Given the description of an element on the screen output the (x, y) to click on. 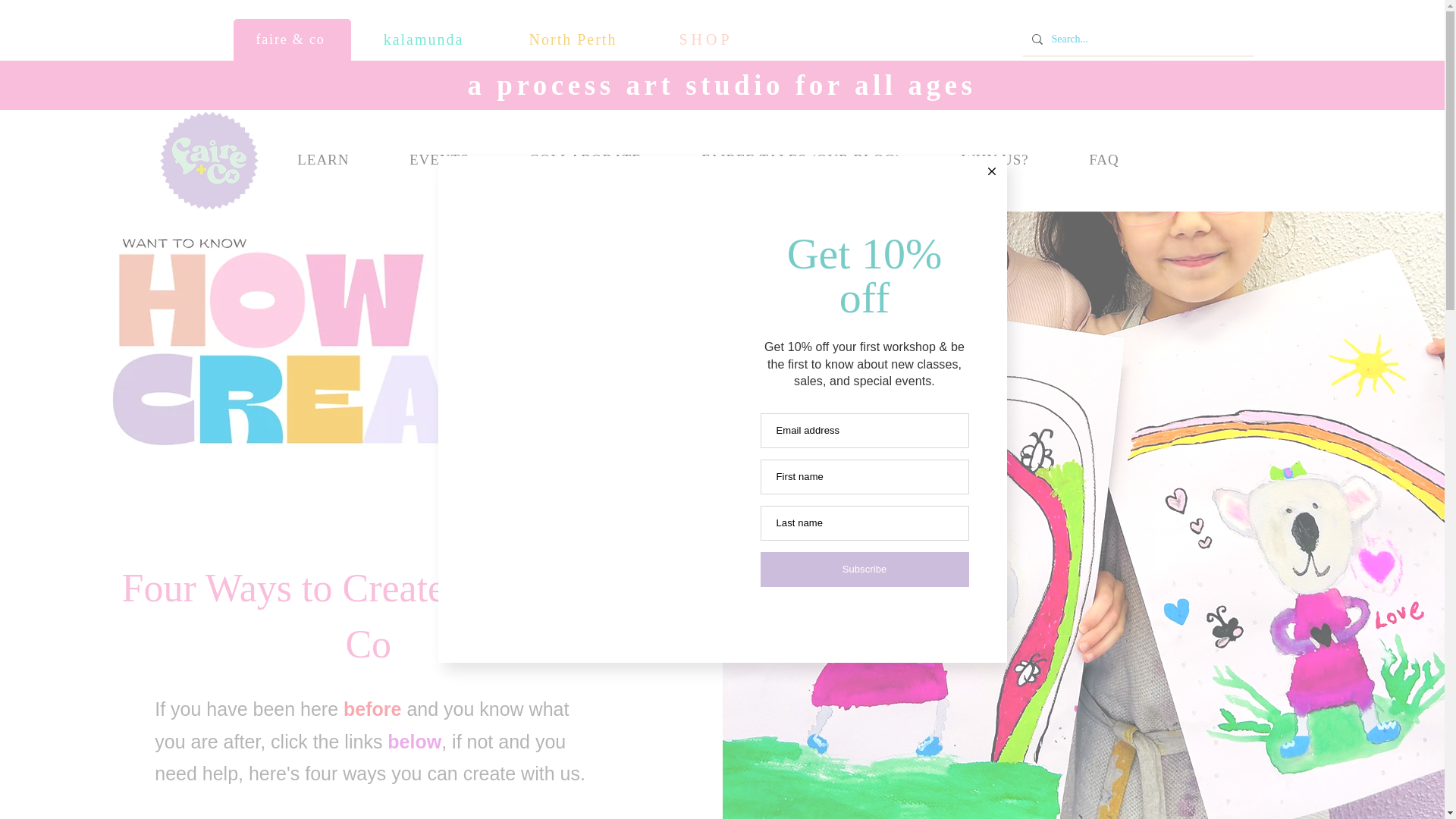
SHOP (708, 39)
North Perth (574, 39)
EVENTS (438, 160)
kalamunda (424, 39)
LEARN (322, 160)
COLLABORATE (585, 160)
